Given the description of an element on the screen output the (x, y) to click on. 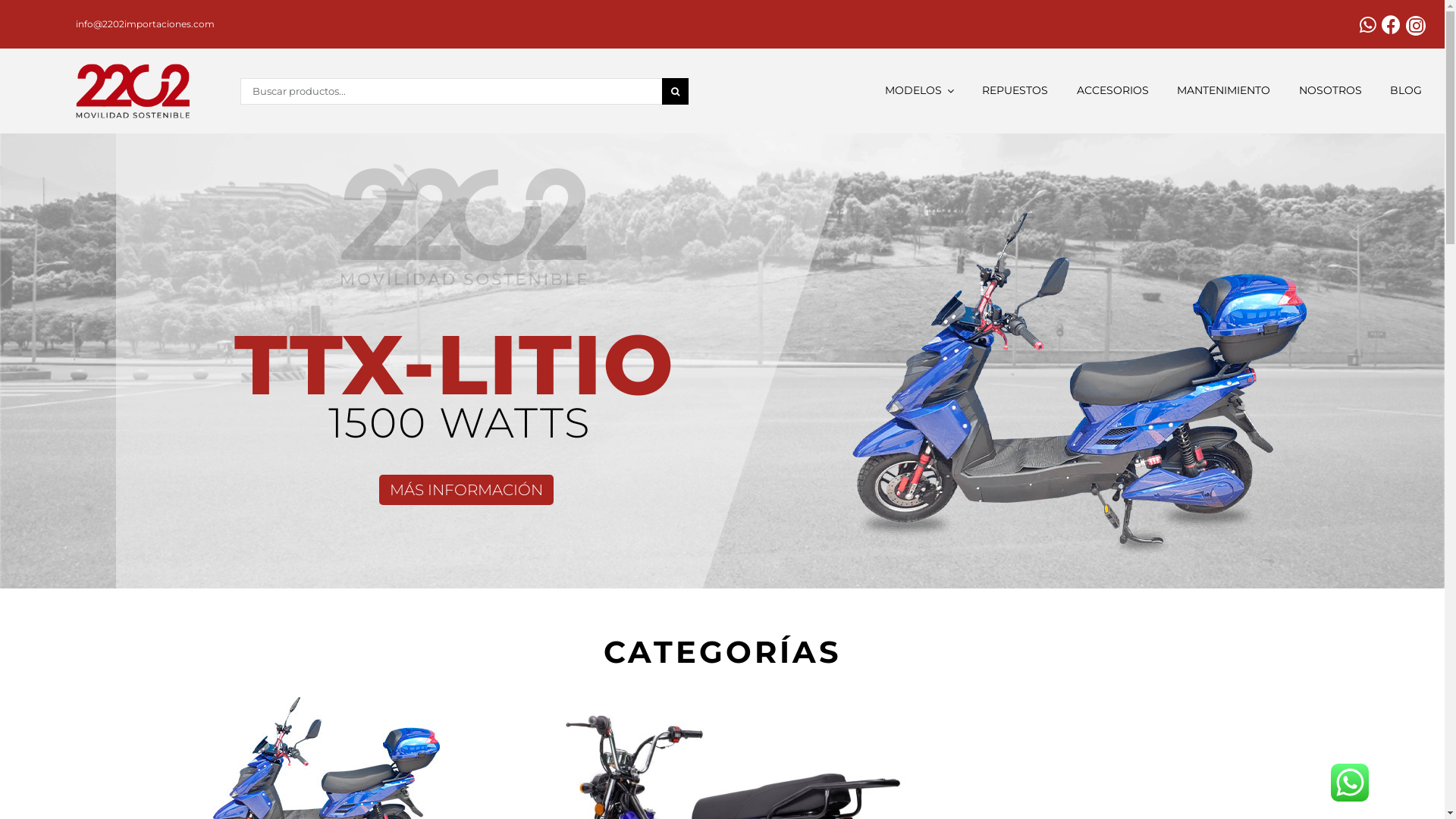
ACCESORIOS Element type: text (1112, 90)
MANTENIMIENTO Element type: text (1223, 90)
info@2202importaciones.com Element type: text (144, 23)
NOSOTROS Element type: text (1330, 90)
REPUESTOS Element type: text (1015, 90)
BLOG Element type: text (1405, 90)
MODELOS Element type: text (918, 90)
